Given the description of an element on the screen output the (x, y) to click on. 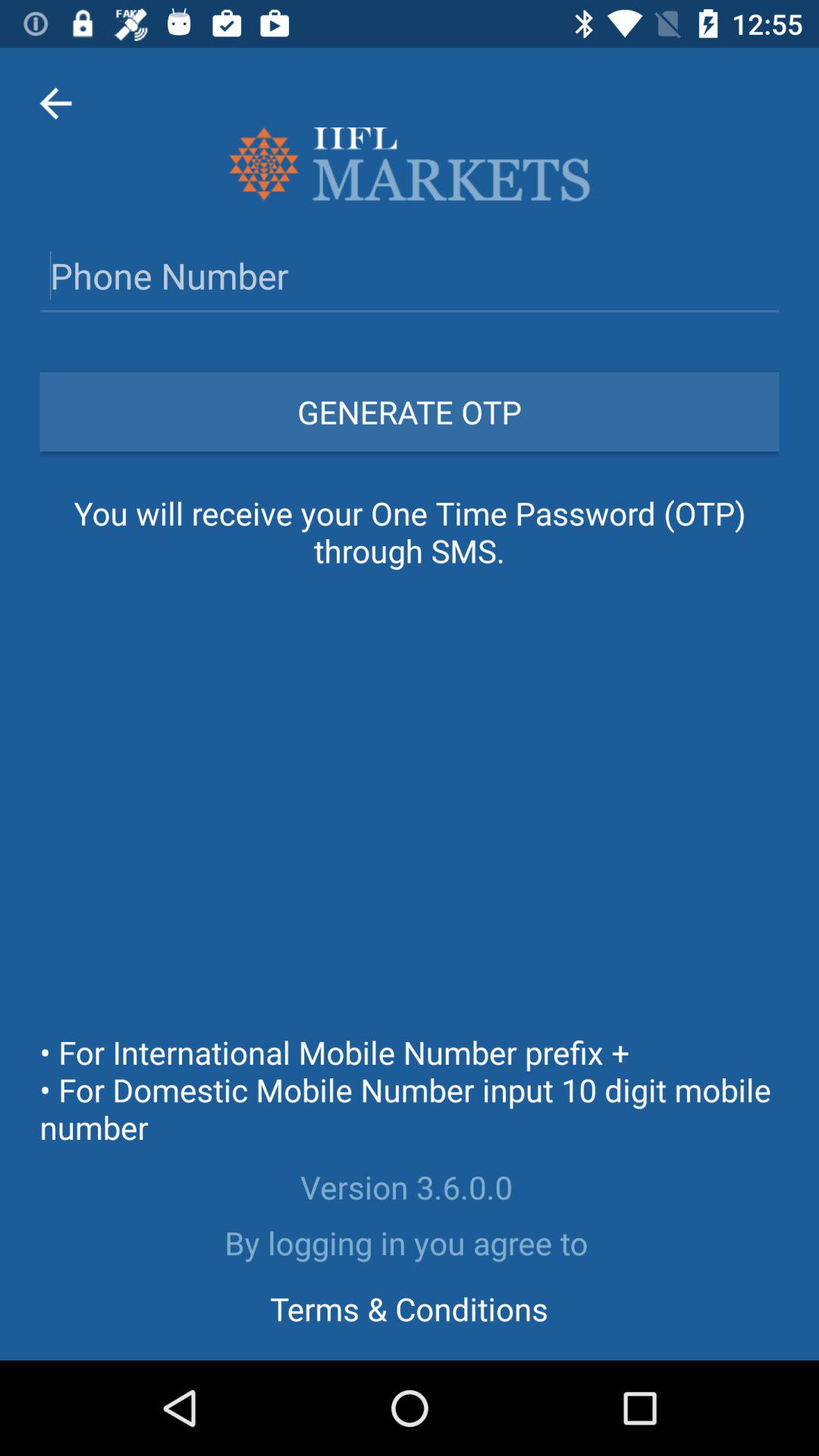
flip until by logging in (409, 1242)
